Given the description of an element on the screen output the (x, y) to click on. 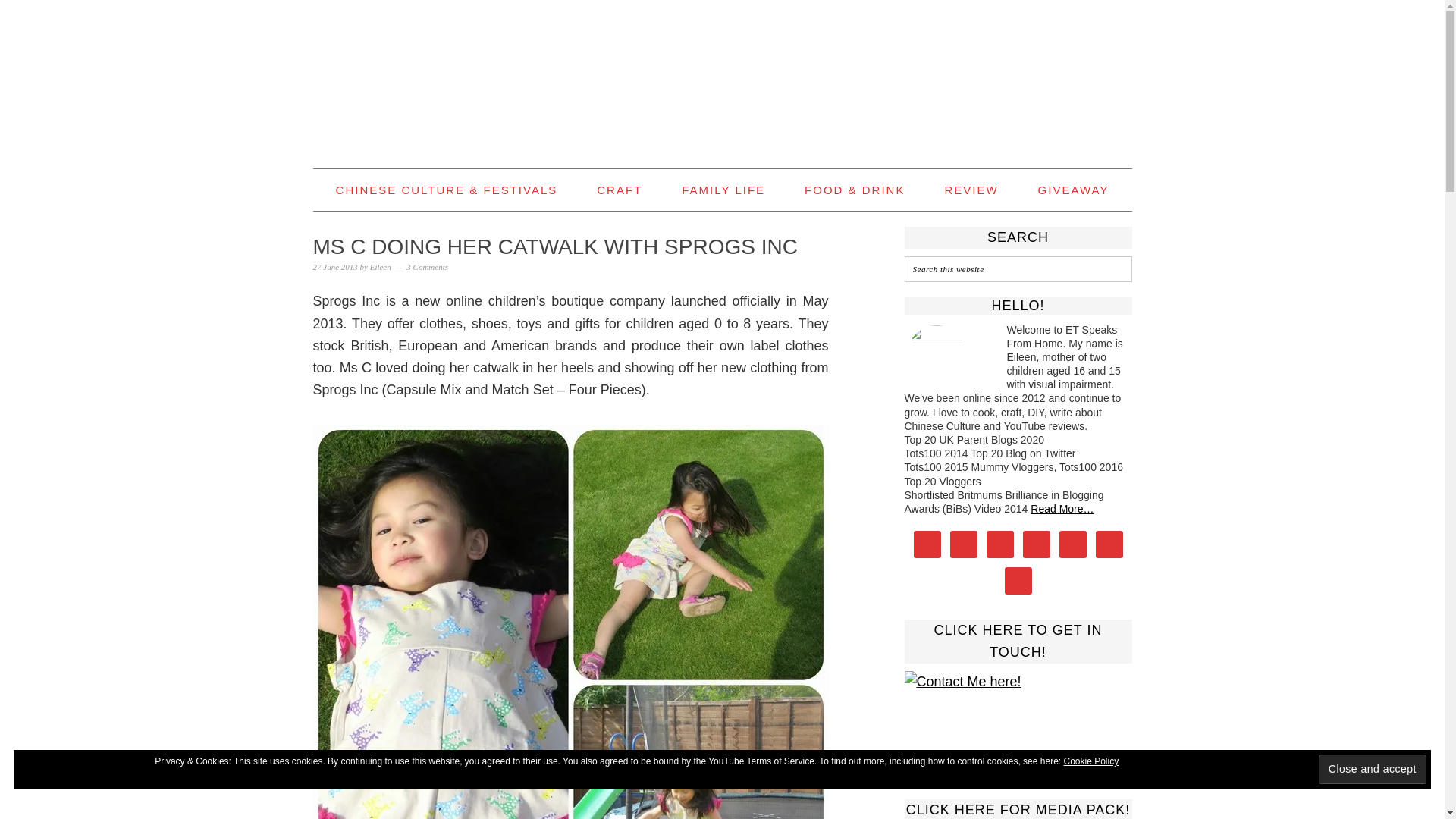
Click here to get in touch! (1017, 718)
ET SPEAKS FROM HOME (722, 77)
CRAFT (619, 189)
REVIEW (970, 189)
Close and accept (1372, 768)
FAMILY LIFE (723, 189)
